Given the description of an element on the screen output the (x, y) to click on. 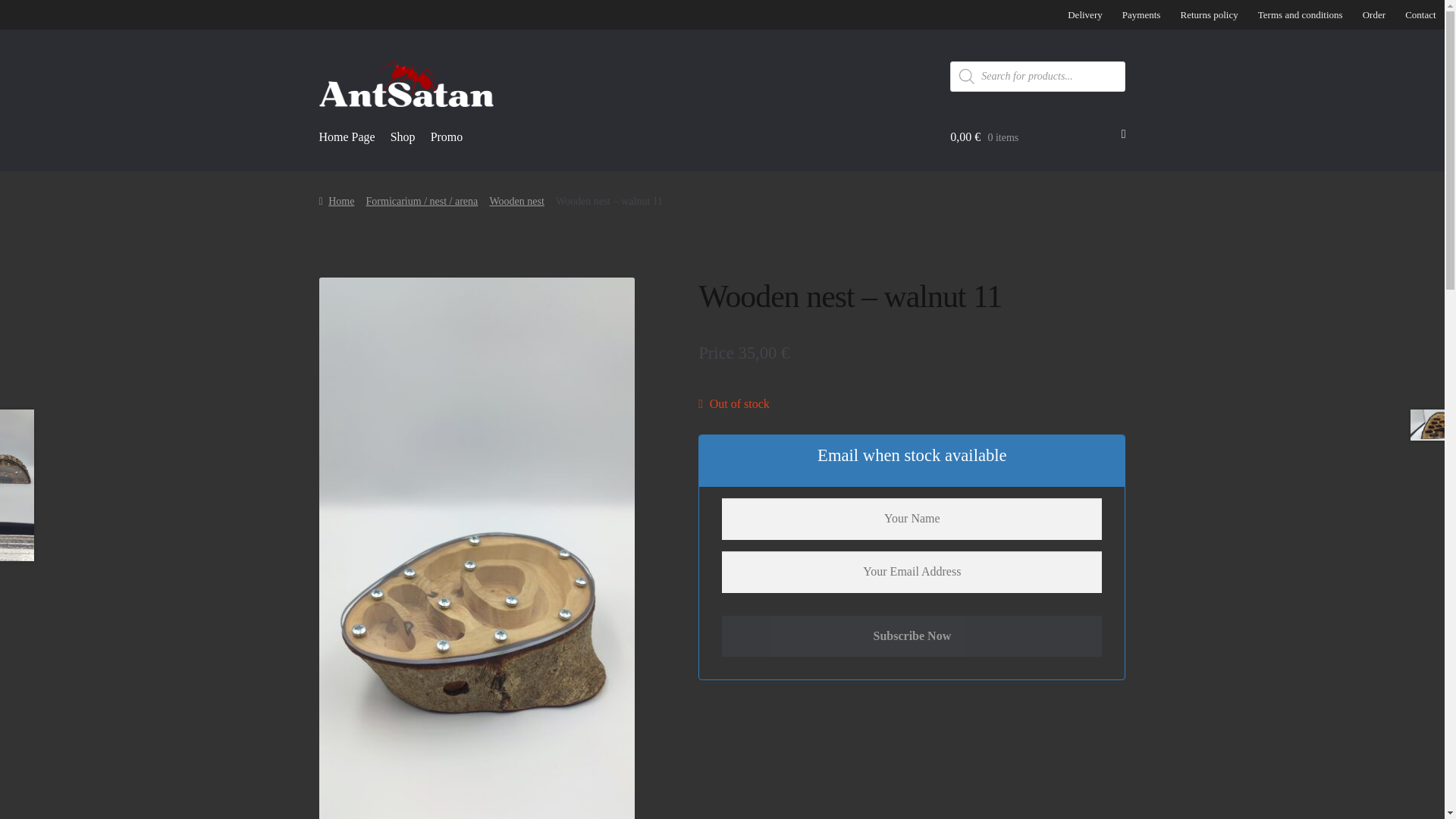
Terms and conditions (1300, 14)
Wooden nest (516, 201)
Subscribe Now (912, 636)
Order (1373, 14)
Delivery (1084, 14)
Returns policy (1209, 14)
Home (336, 201)
Home Page (346, 137)
Subscribe Now (912, 636)
Shop (402, 137)
